Given the description of an element on the screen output the (x, y) to click on. 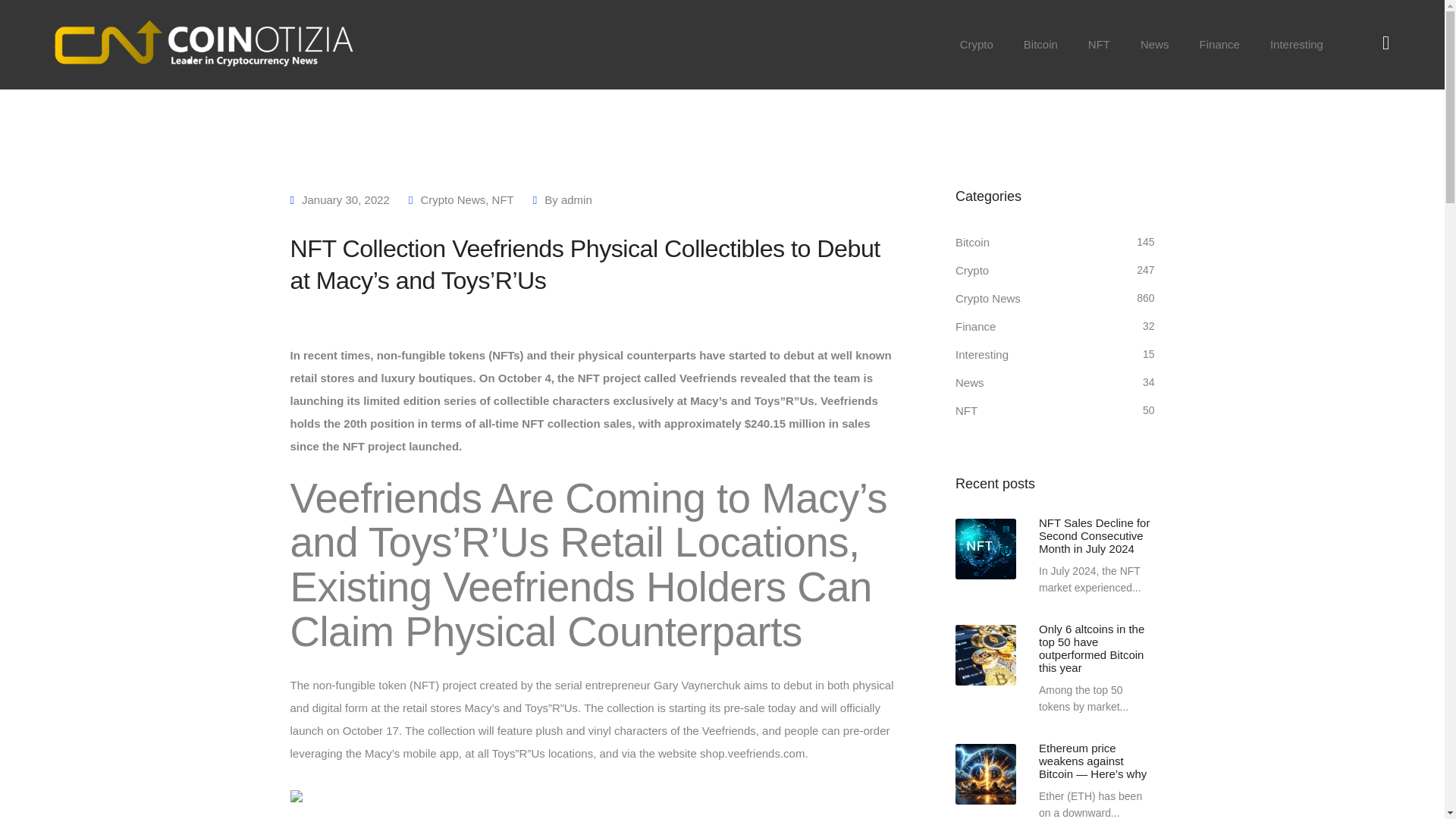
NFT (1099, 44)
Bitcoin (1041, 44)
News (1155, 44)
Crypto (976, 44)
Finance (1220, 44)
Interesting (1296, 44)
